Given the description of an element on the screen output the (x, y) to click on. 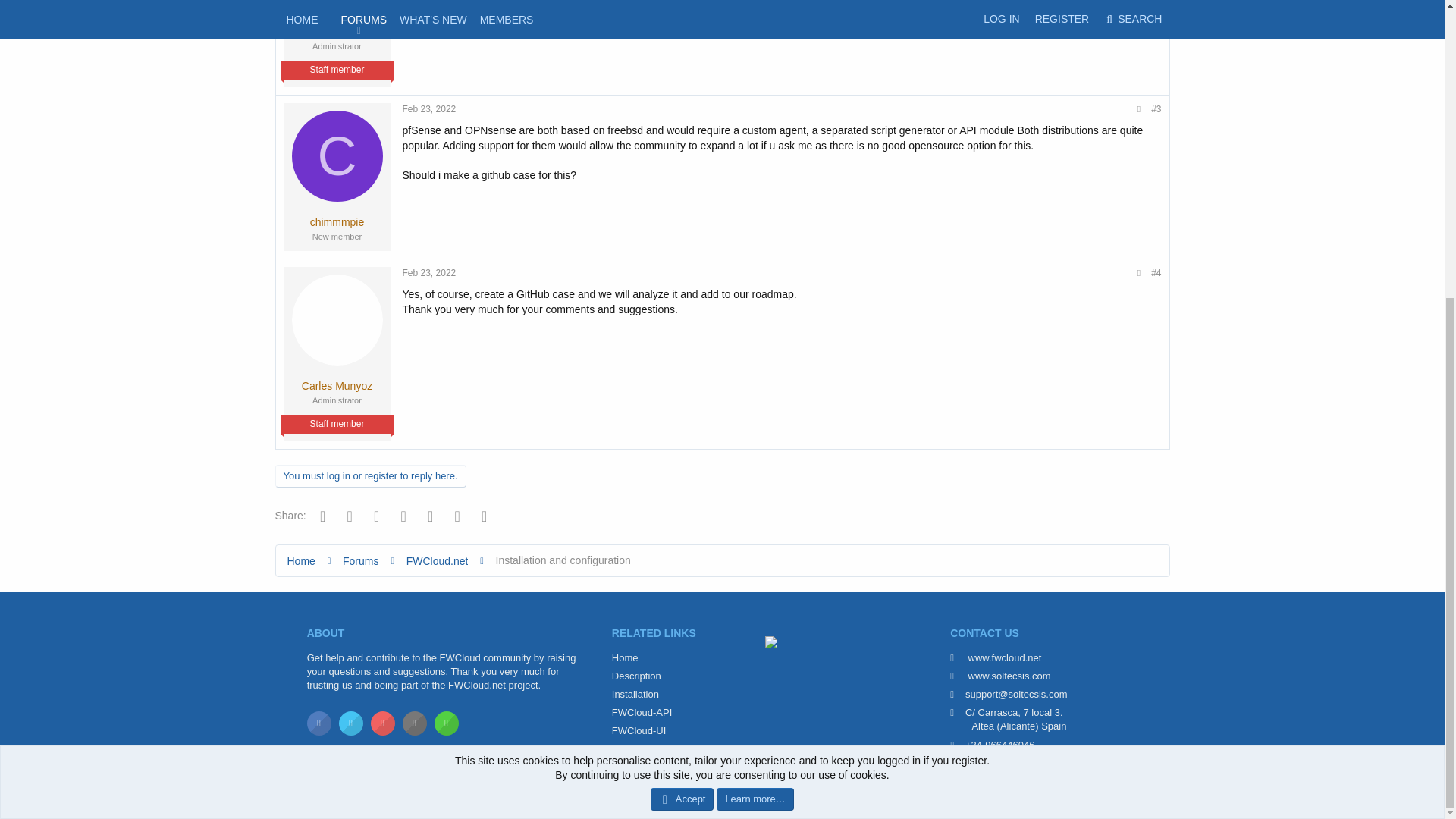
Feb 23, 2022 at 4:41 PM (428, 272)
Feb 23, 2022 at 2:39 PM (428, 109)
RSS (1161, 803)
